Given the description of an element on the screen output the (x, y) to click on. 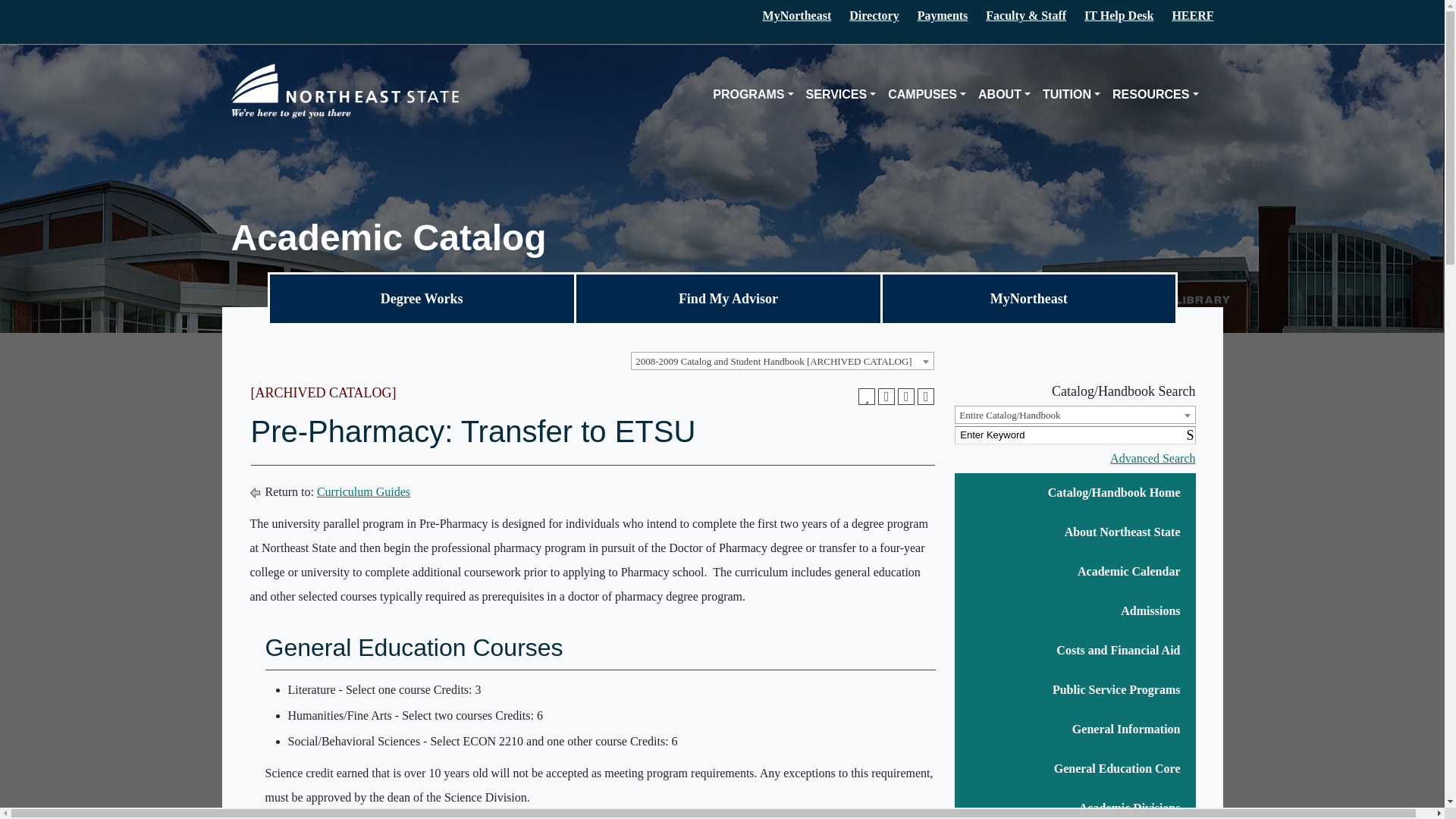
SERVICES (840, 94)
Enter Keyword   (1075, 434)
Payments (942, 15)
CAMPUSES (927, 94)
HEERF (1192, 15)
MyNortheast (796, 15)
My Northeast (796, 15)
IT Help Desk (1118, 15)
Directory (873, 15)
Payments (942, 15)
PROGRAMS (752, 94)
IT Help Desk (1118, 15)
HEERF (1192, 15)
